Given the description of an element on the screen output the (x, y) to click on. 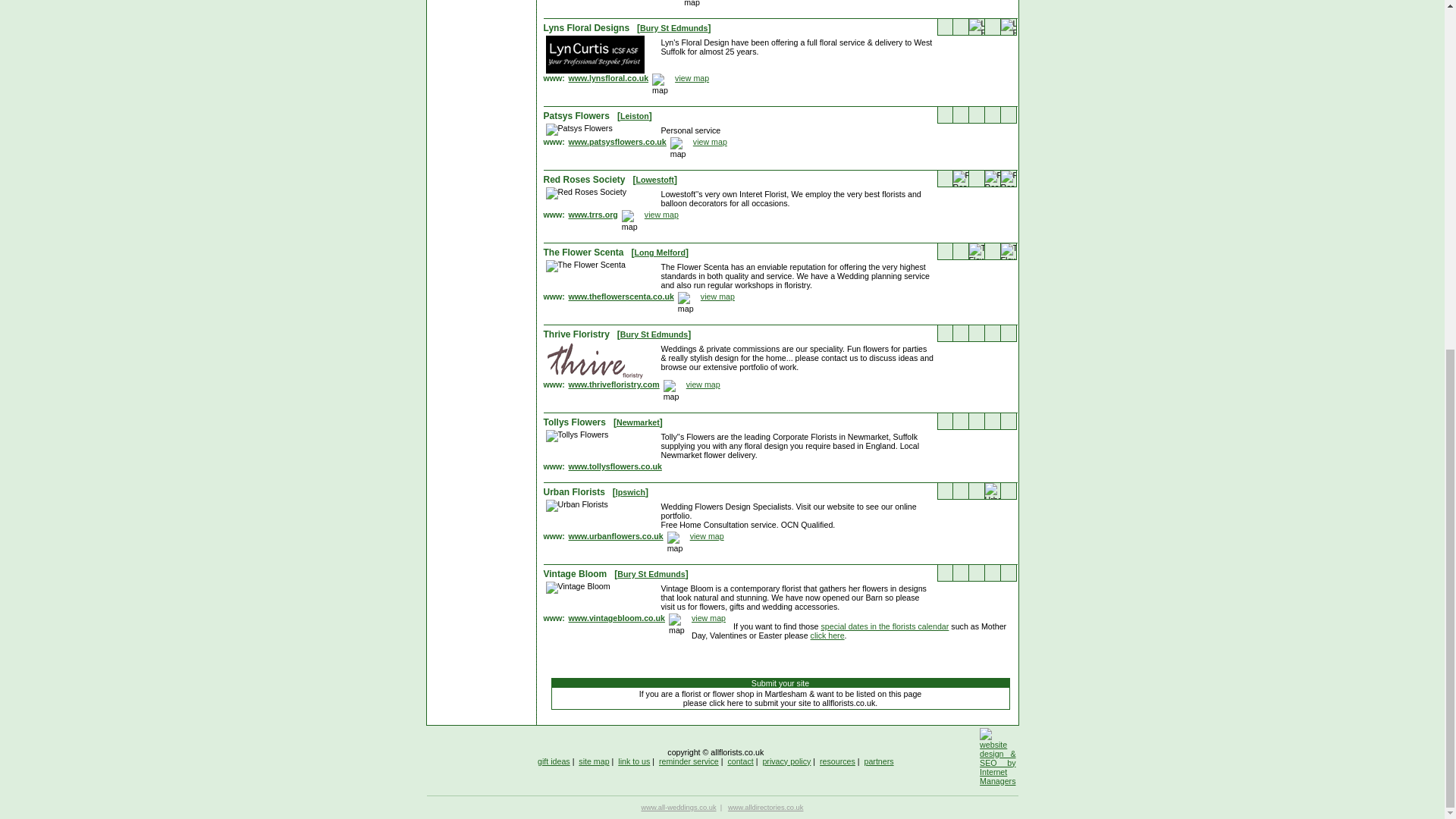
Leiston (634, 115)
view map (692, 77)
www.trrs.org (593, 215)
Newmarket (637, 421)
Lowestoft (655, 179)
Bury St Edmunds (653, 334)
view map (709, 141)
Bury St Edmunds (673, 27)
Bury St Edmunds (650, 573)
www.theflowerscenta.co.uk (621, 297)
view map (708, 617)
www.vintagebloom.co.uk (617, 618)
www.tollysflowers.co.uk (615, 467)
www.thrivefloristry.com (614, 385)
view map (717, 296)
